Given the description of an element on the screen output the (x, y) to click on. 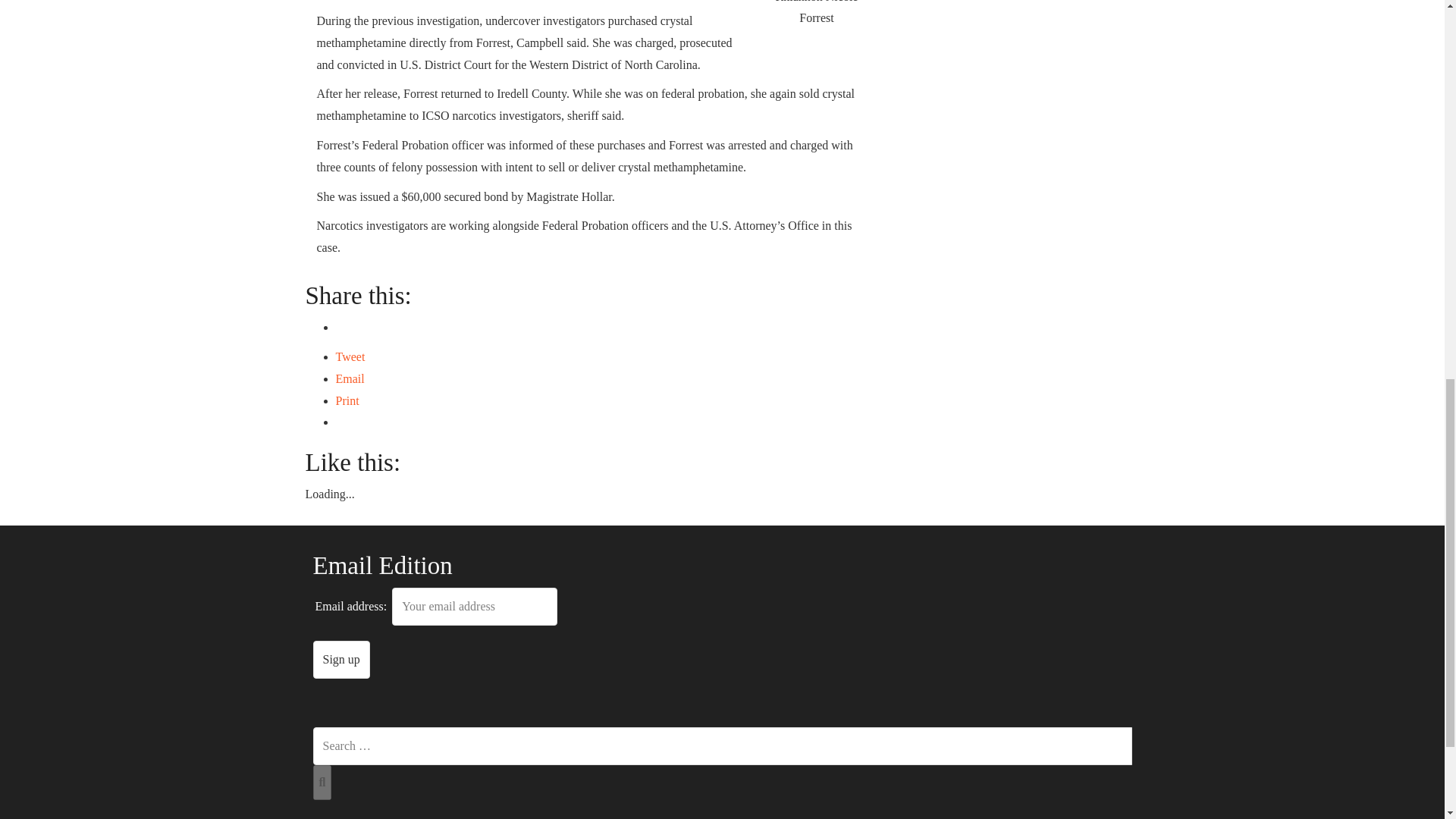
Sign up (341, 659)
Email (349, 378)
Click to print (346, 400)
Print (346, 400)
Tweet (349, 356)
Click to email a link to a friend (349, 378)
Sign up (341, 659)
